Given the description of an element on the screen output the (x, y) to click on. 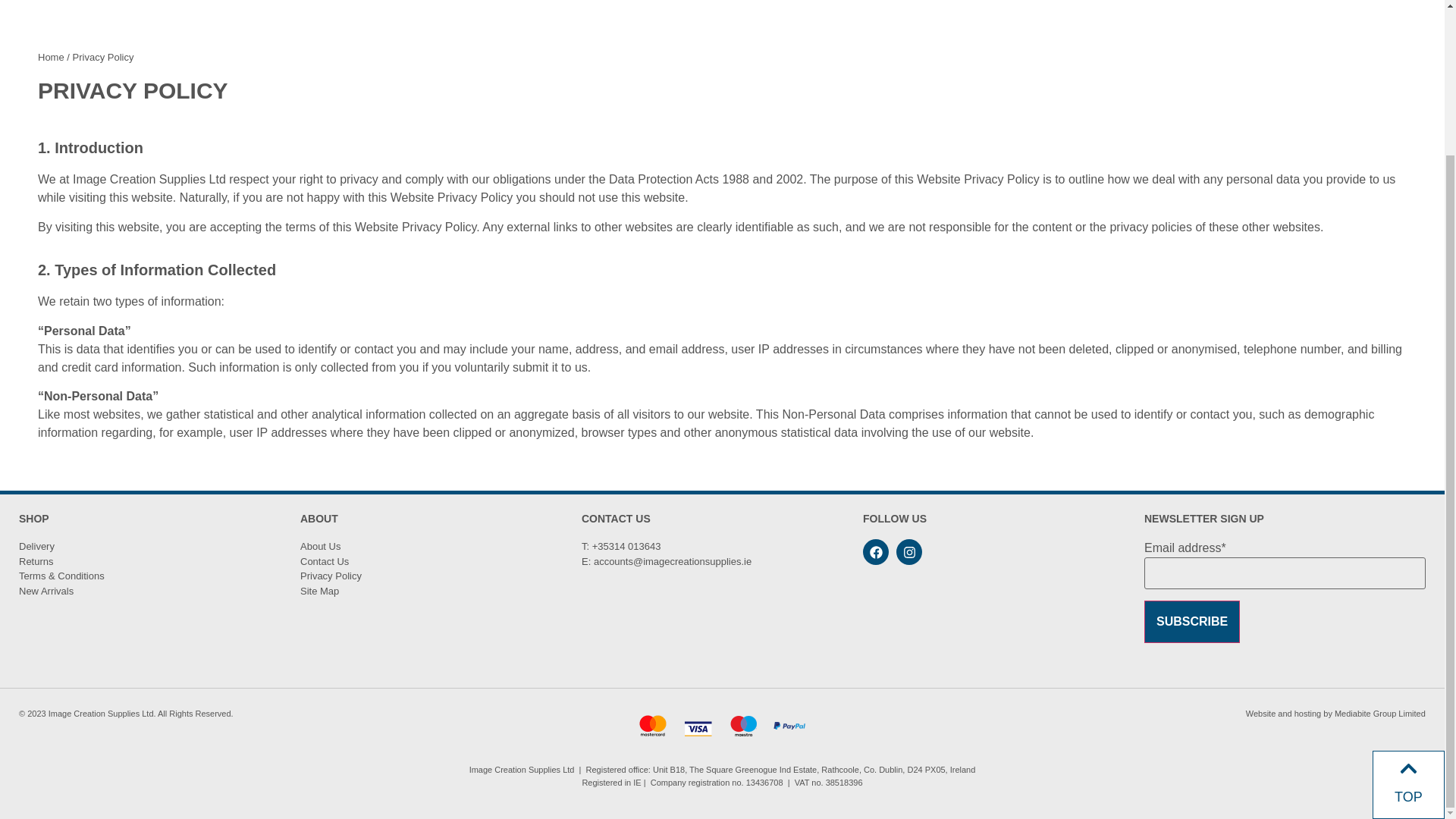
Subscribe (1192, 621)
TOP (1408, 615)
